Given the description of an element on the screen output the (x, y) to click on. 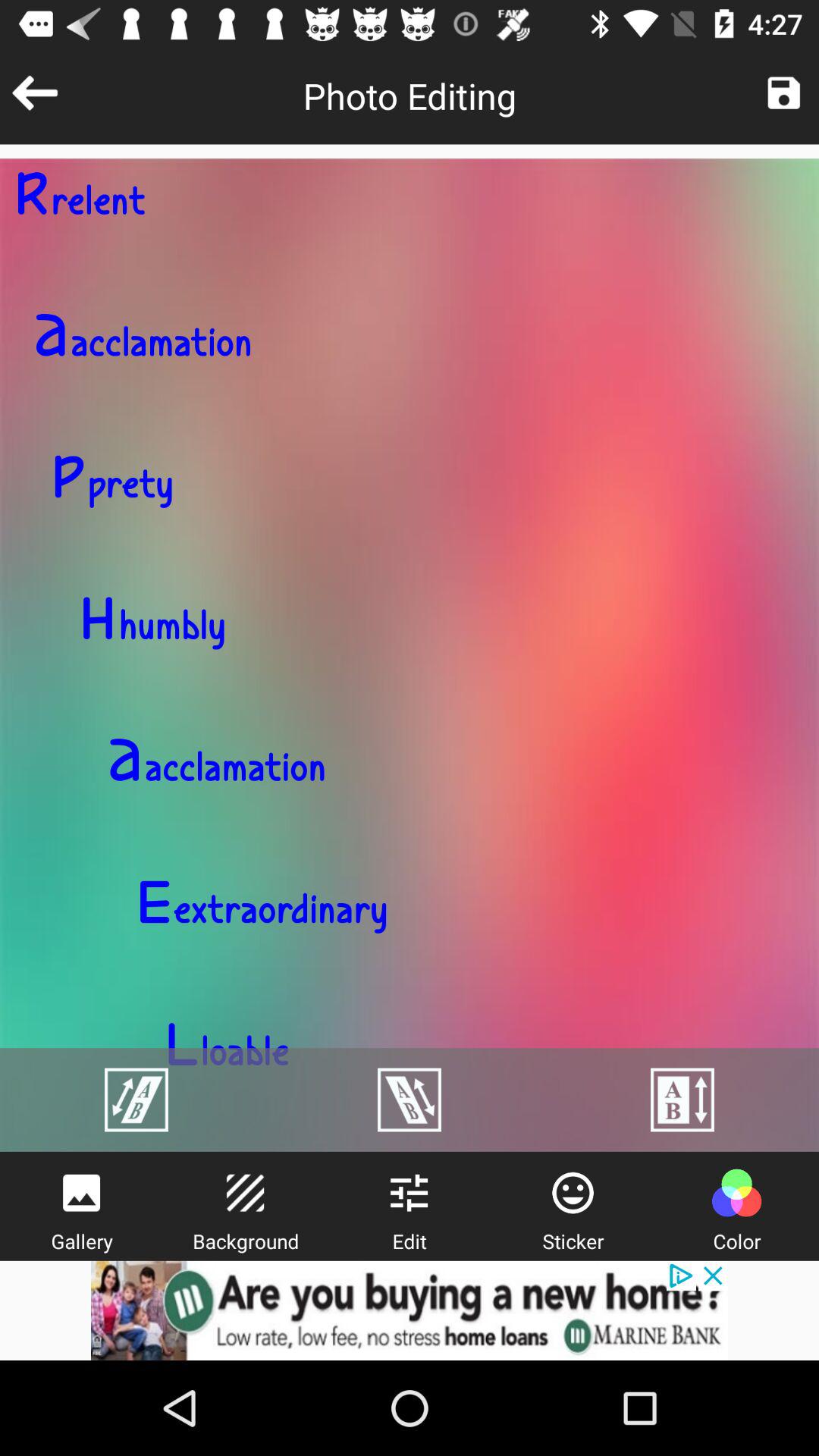
expand photo edit (409, 1099)
